Given the description of an element on the screen output the (x, y) to click on. 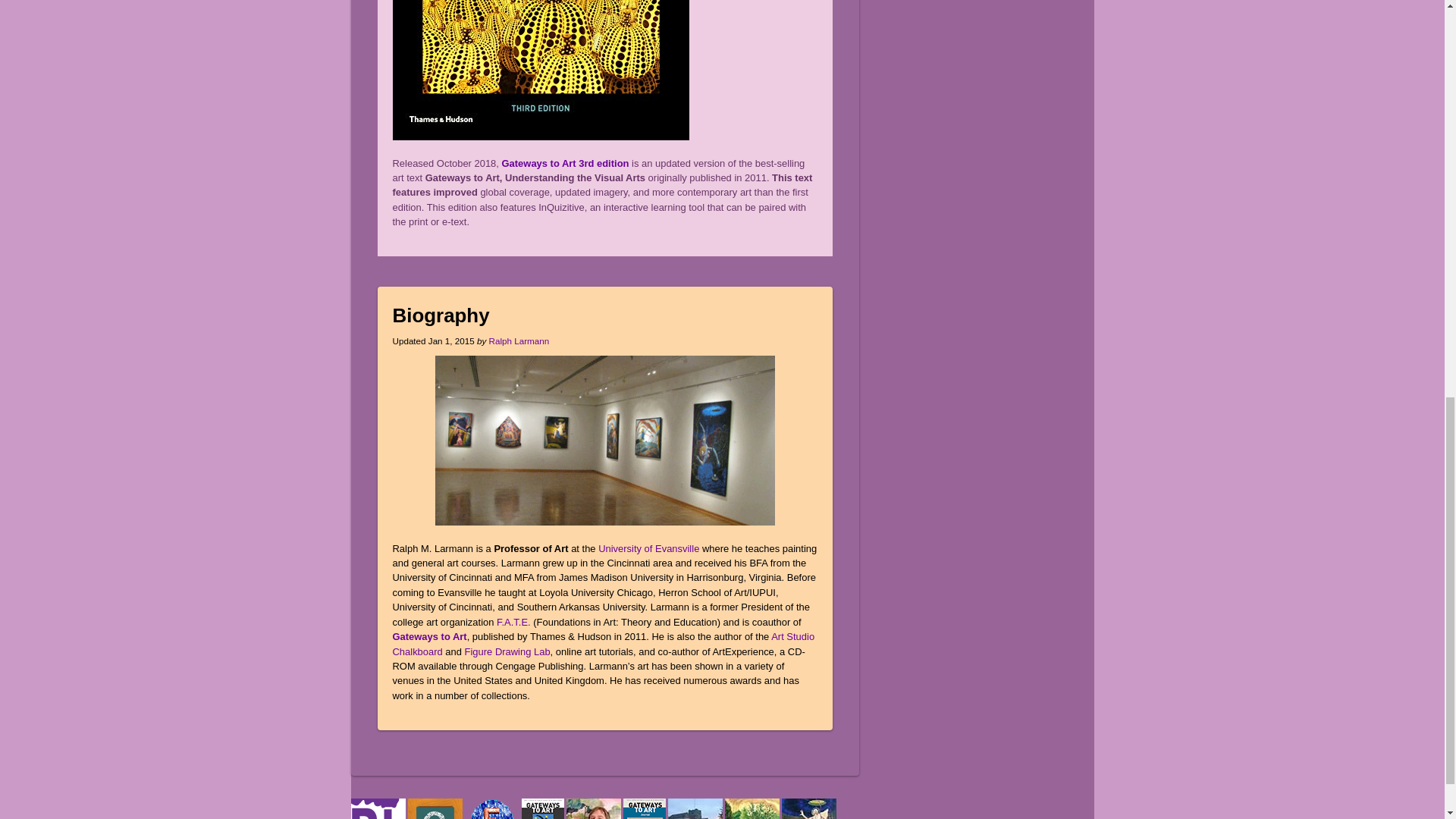
Art Studio Chalkboard (604, 643)
Gateways to Art 3rd edition (565, 163)
Ralph Larmann (519, 340)
Figure Drawing Lab (507, 651)
University of Evansville (648, 548)
Gateways to Art (430, 636)
F.A.T.E. (513, 622)
Gateways to Art 3rd edition (565, 163)
Figure Drawing Lab (507, 651)
Art Studio Chalkboard (604, 643)
University of Evansville (648, 548)
Gateways to Art (430, 636)
Biography (441, 314)
FATE (513, 622)
